Given the description of an element on the screen output the (x, y) to click on. 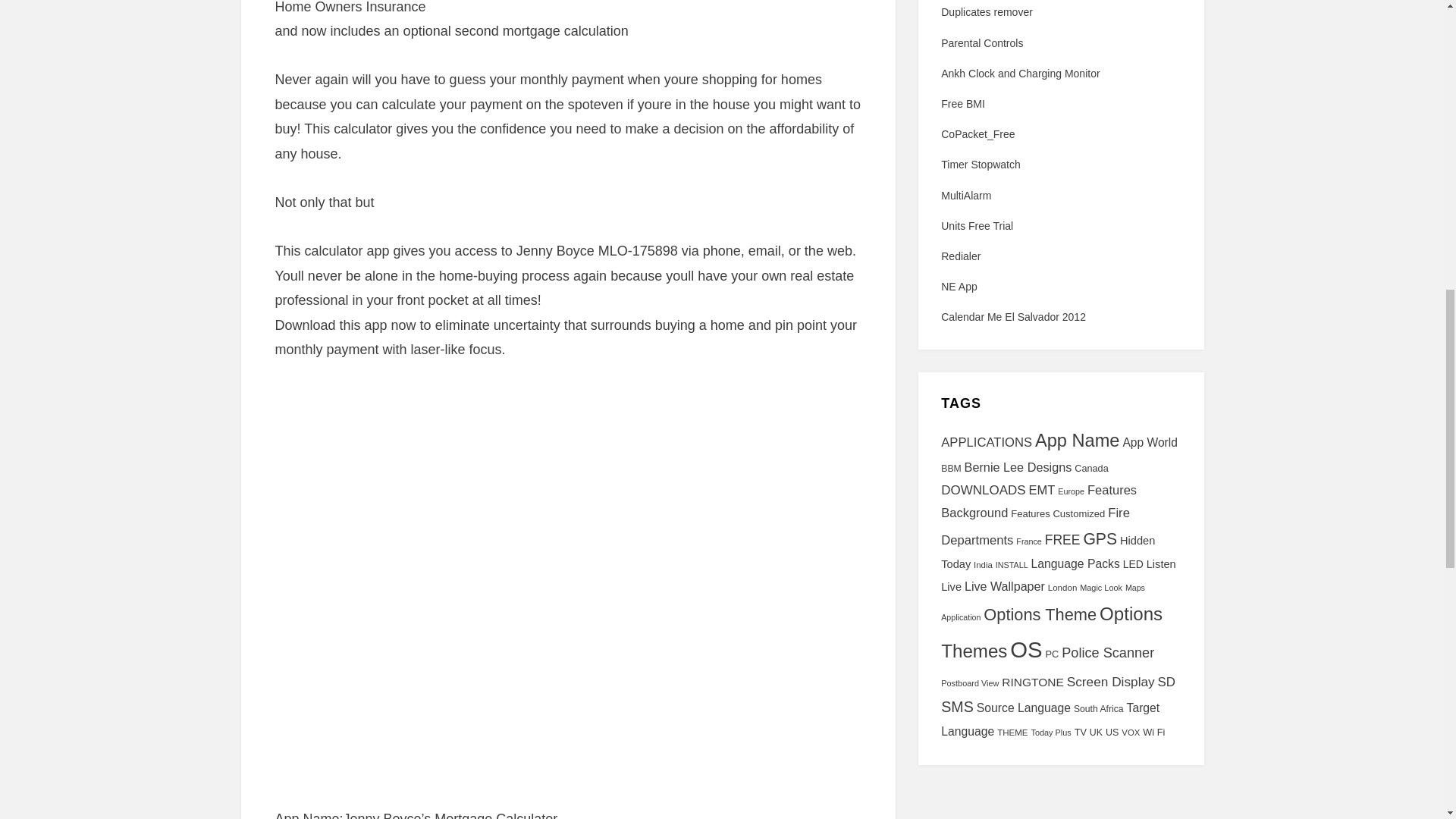
Duplicates remover (986, 11)
